Given the description of an element on the screen output the (x, y) to click on. 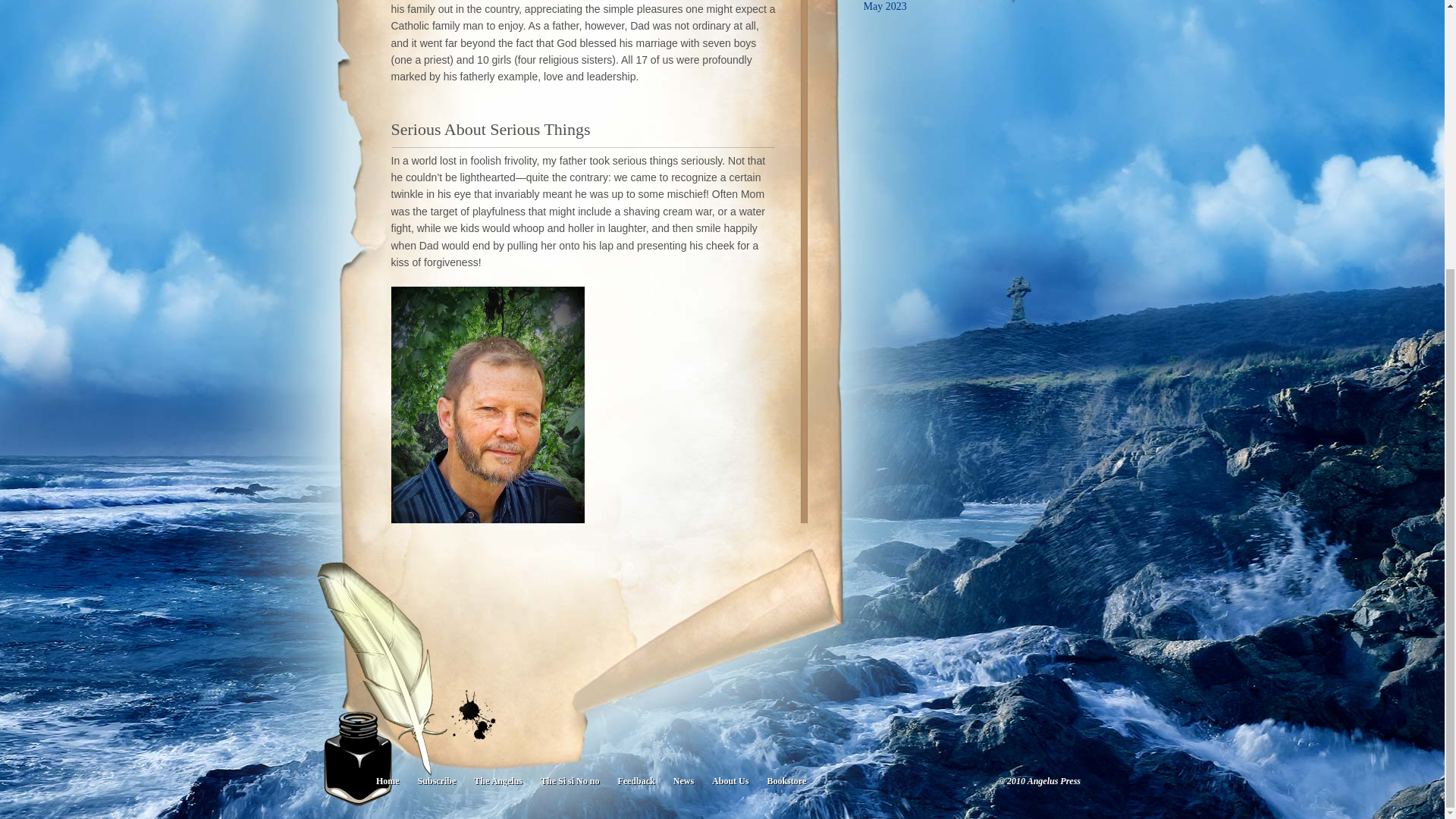
About Us (730, 780)
Subscribe (437, 780)
The Si si No no (569, 780)
May 2023 (884, 6)
Bookstore (786, 780)
Home (387, 780)
The Angelus (497, 780)
Feedback (635, 780)
News (683, 780)
